Given the description of an element on the screen output the (x, y) to click on. 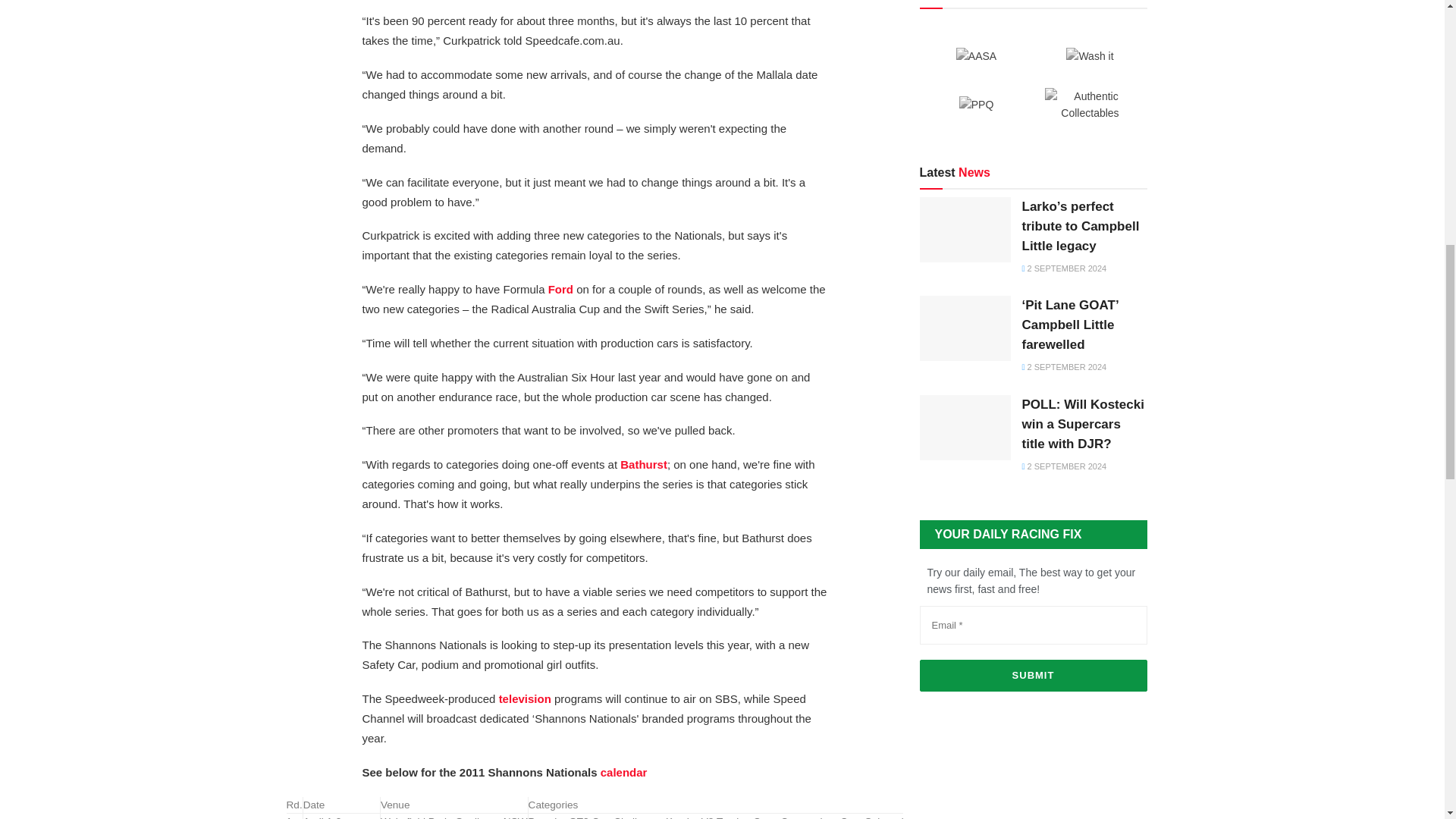
Posts tagged with Bathurst (643, 463)
Posts tagged with television (525, 698)
Posts tagged with calendar (623, 771)
Posts tagged with Ford (560, 288)
SUBMIT (1032, 675)
